Given the description of an element on the screen output the (x, y) to click on. 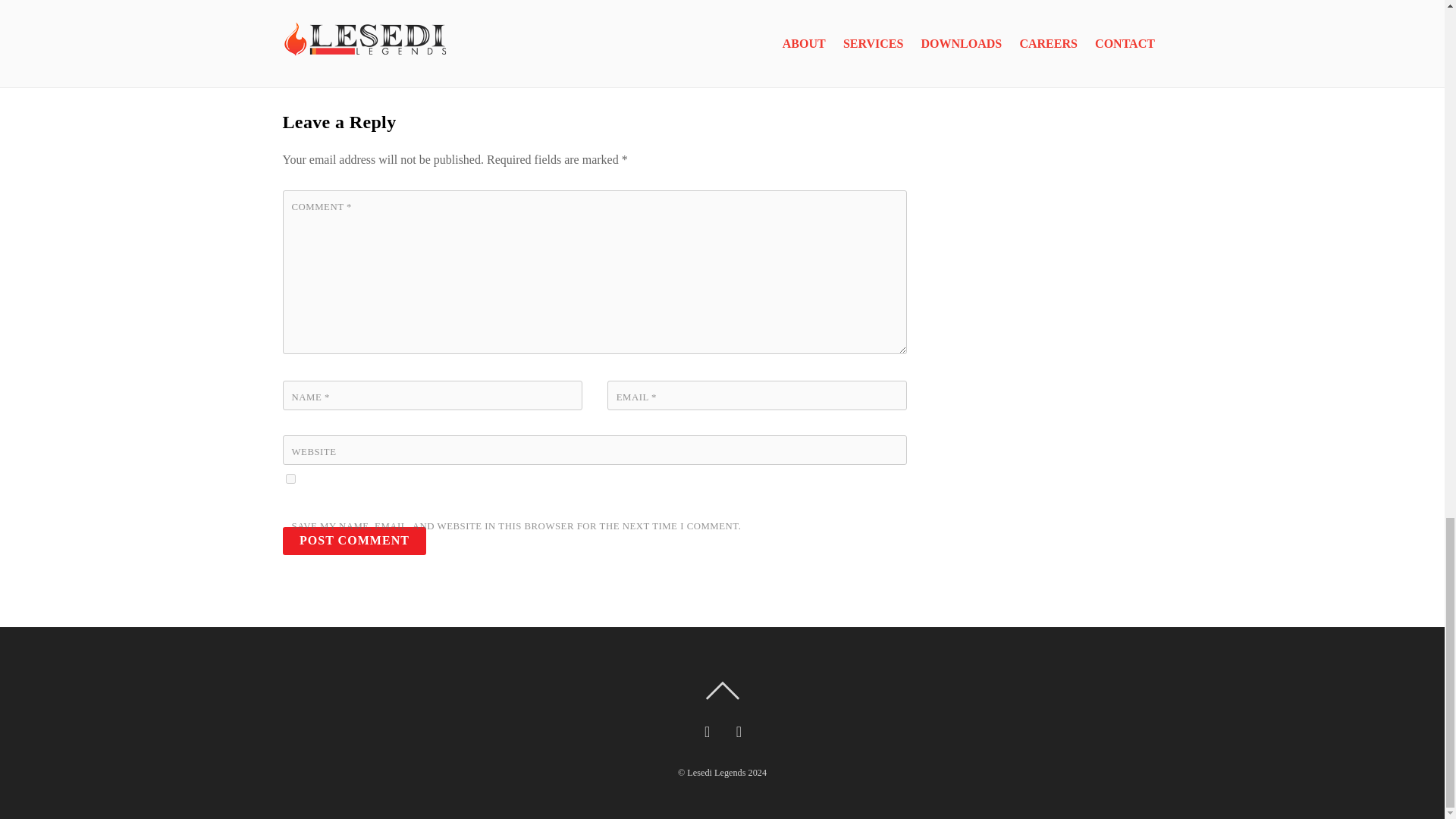
Post Comment (354, 541)
MAIN (507, 3)
yes (290, 478)
Cell mobile phone Play restaurant Gambling (564, 31)
MAIN (719, 3)
Lines? Simply by Louis Lopez (799, 22)
MAIN (293, 3)
Cell mobile phone Play restaurant Gambling (564, 31)
Post Comment (354, 541)
Lesedi Legends (716, 772)
Lines? Simply by Louis Lopez (799, 22)
